Given the description of an element on the screen output the (x, y) to click on. 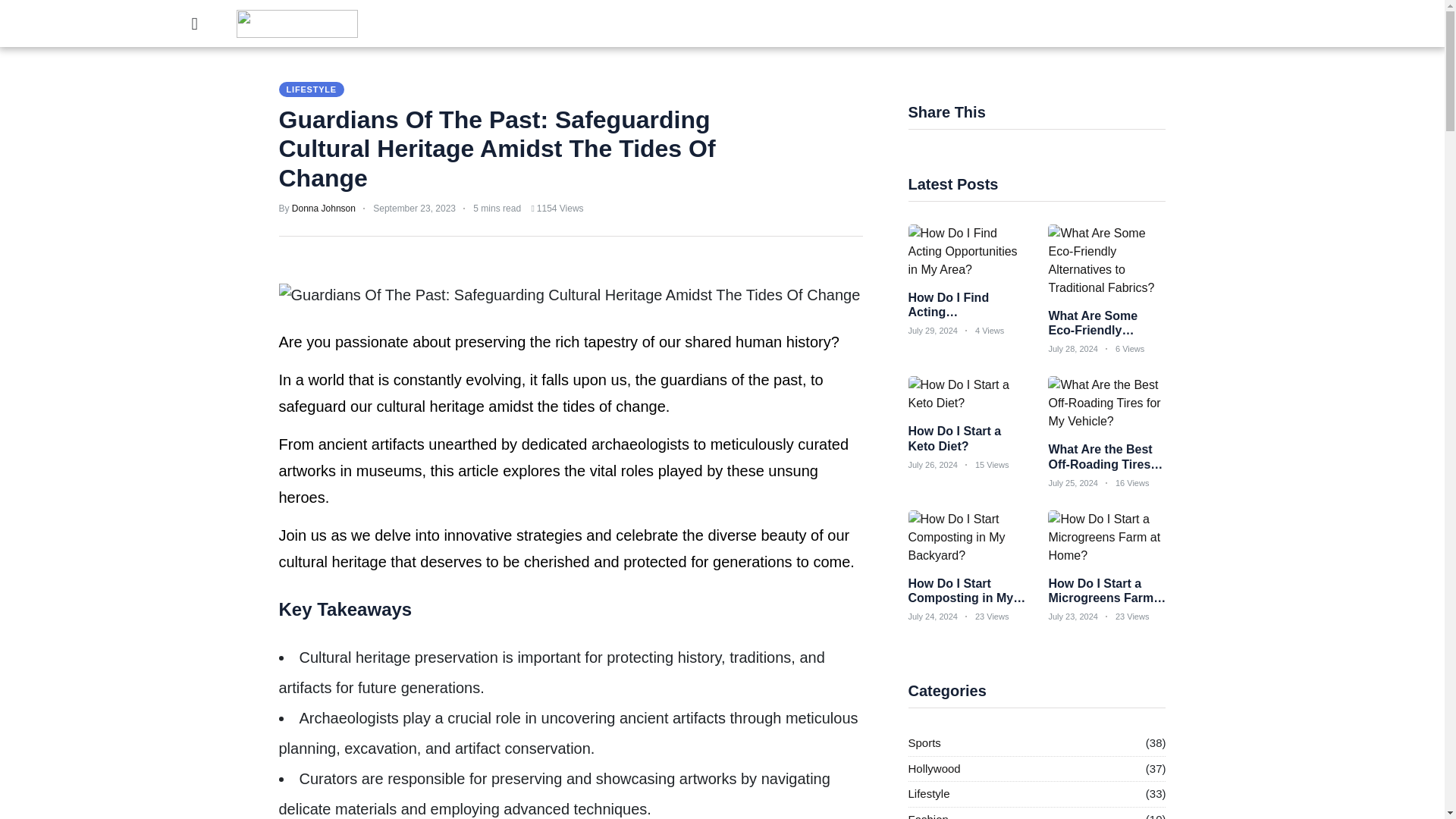
SPORTS (422, 25)
LIFESTYLE (311, 89)
TRENDS (848, 25)
HOLLYWOOD (500, 25)
Donna Johnson (323, 208)
FASHION (661, 25)
LIFESTYLE (587, 25)
Hollywood (934, 769)
Lifestyle (929, 794)
Fashion (928, 815)
Sports (924, 743)
